Given the description of an element on the screen output the (x, y) to click on. 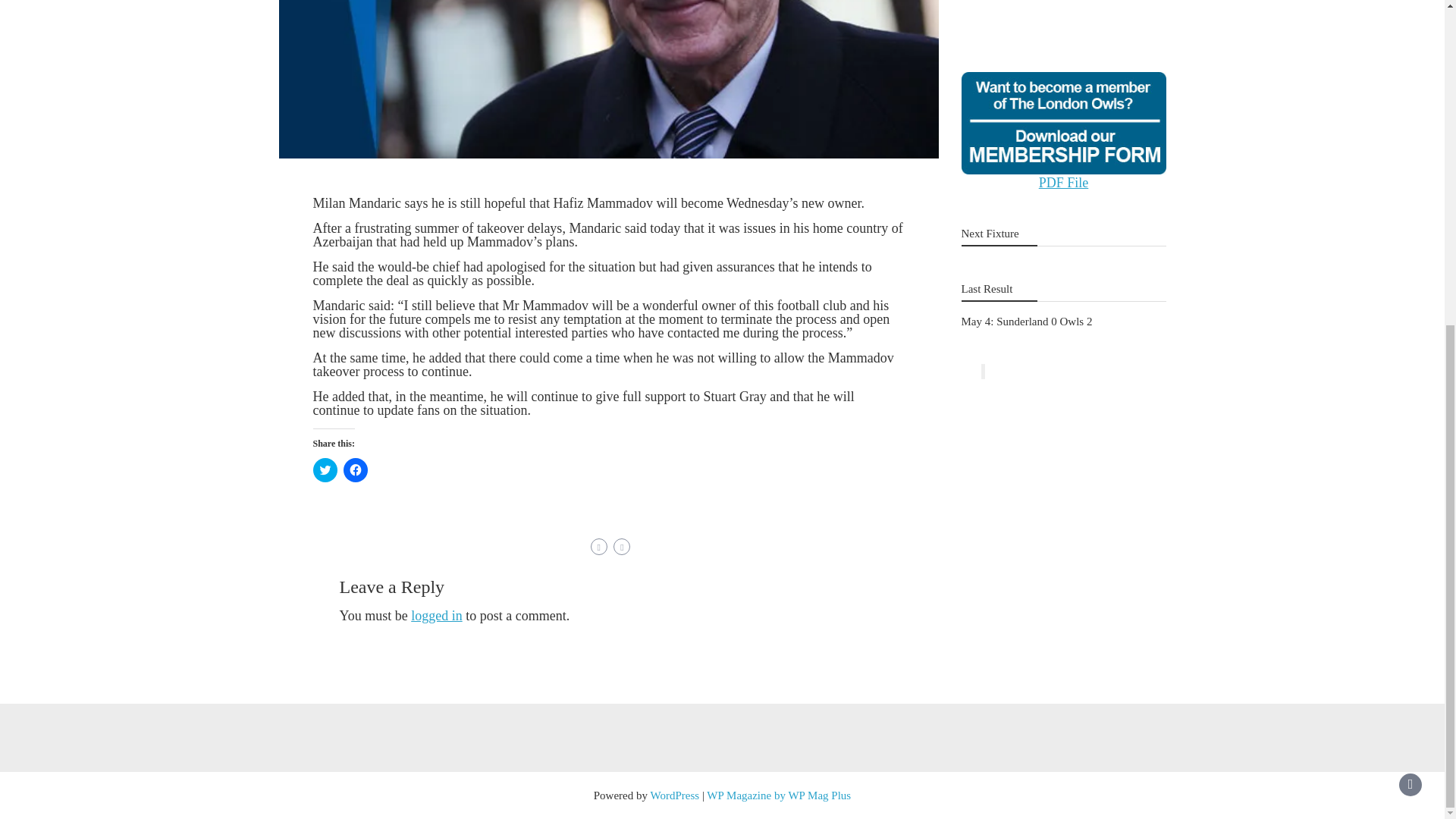
Click to share on Twitter (324, 469)
WP Magazine by WP Mag Plus (778, 795)
Click to share on Facebook (354, 469)
logged in (436, 615)
WordPress (675, 795)
